Given the description of an element on the screen output the (x, y) to click on. 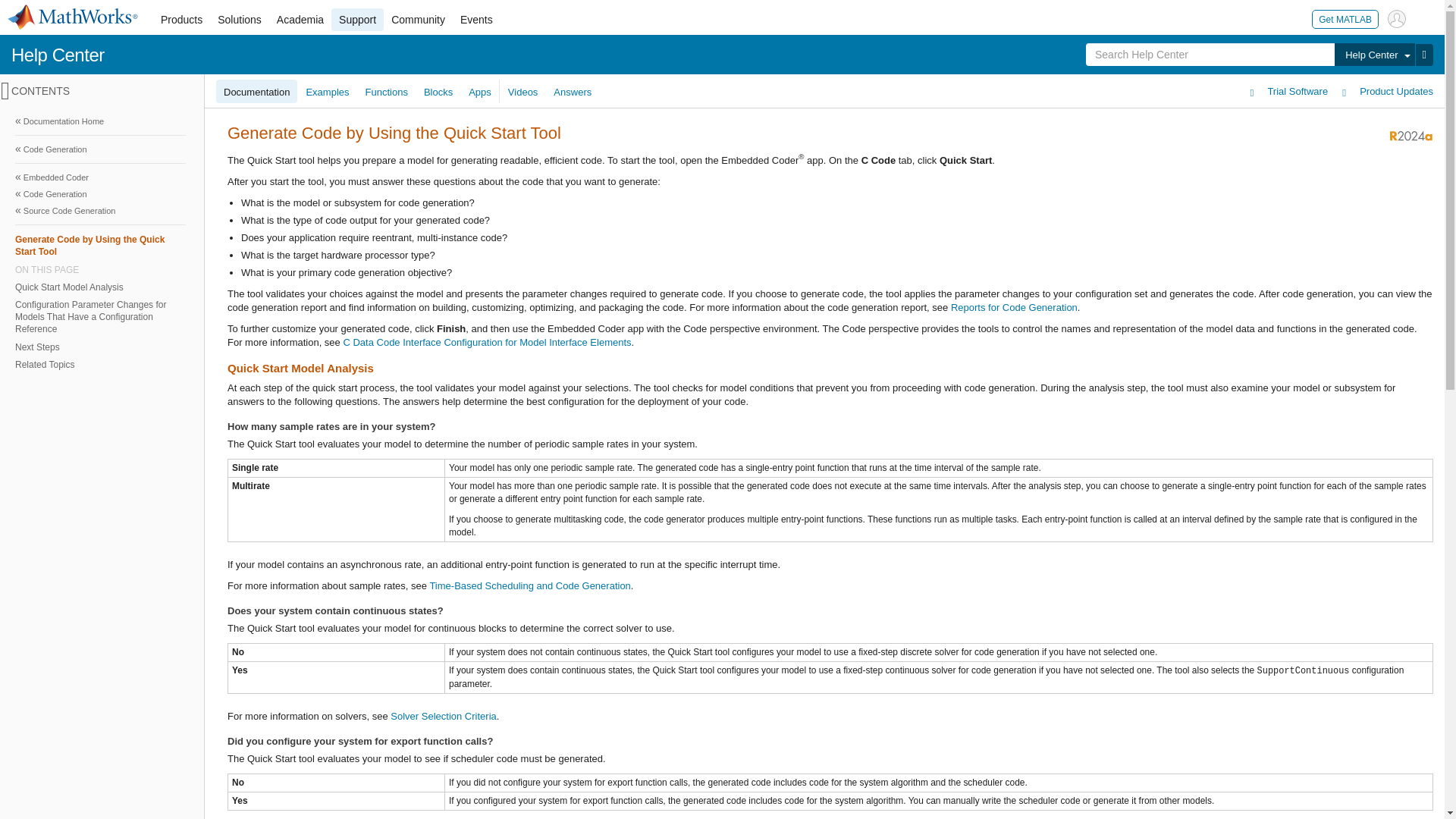
Generate Code by Using the Quick Start Tool (100, 245)
Products (180, 19)
Help Center (1374, 54)
Sign In to Your MathWorks Account (1396, 18)
Generate Code by Using the Quick Start Tool (98, 245)
Events (476, 19)
Source Code Generation (100, 210)
Documentation Home (100, 121)
Code Generation (100, 149)
